Given the description of an element on the screen output the (x, y) to click on. 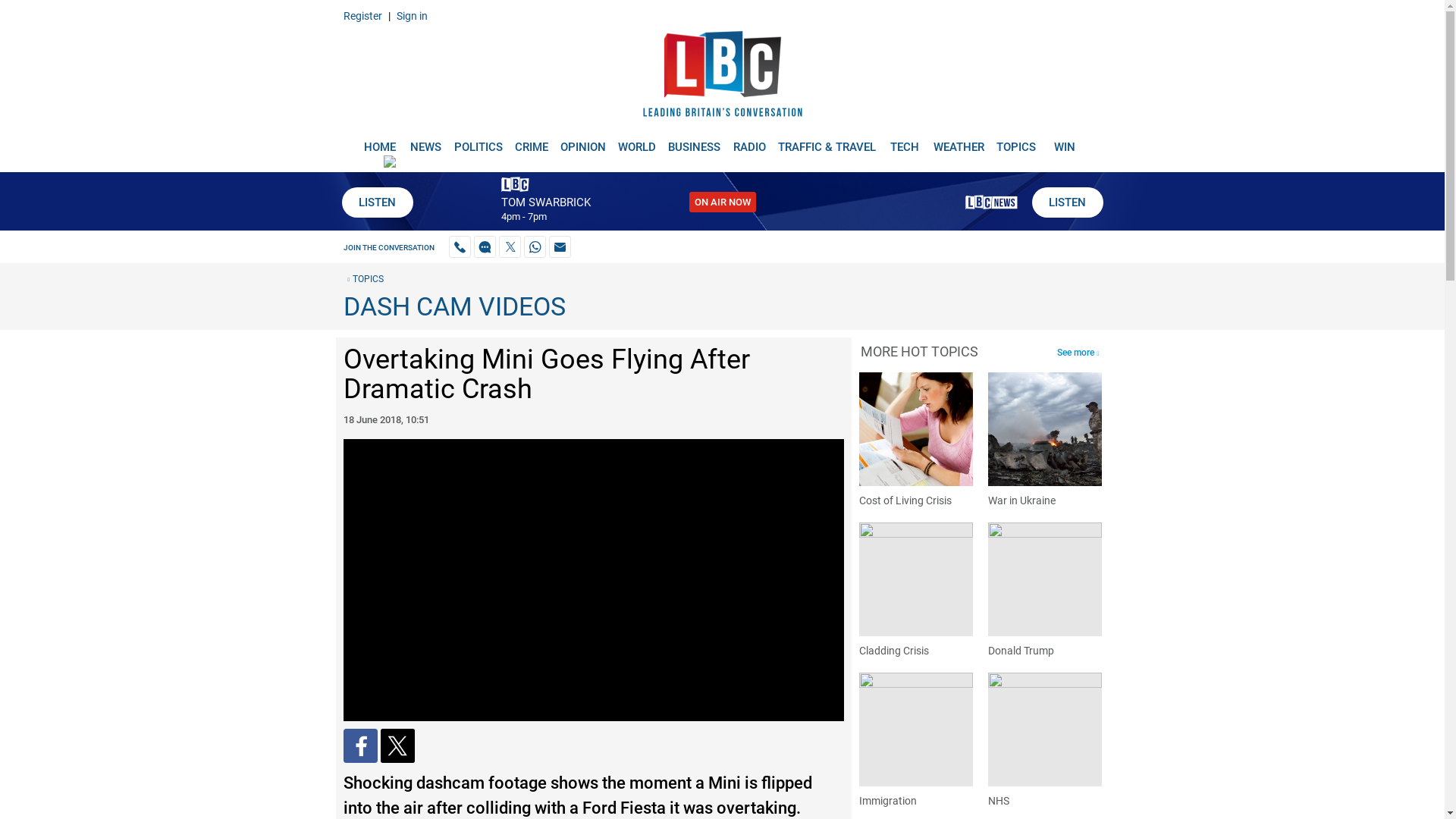
BUSINESS (694, 140)
TOPICS (363, 278)
Sign in (411, 15)
LISTEN (1066, 202)
TOPICS (1016, 140)
CRIME (531, 140)
Register (361, 15)
TECH (904, 140)
NEWS (425, 140)
POLITICS (478, 140)
